Given the description of an element on the screen output the (x, y) to click on. 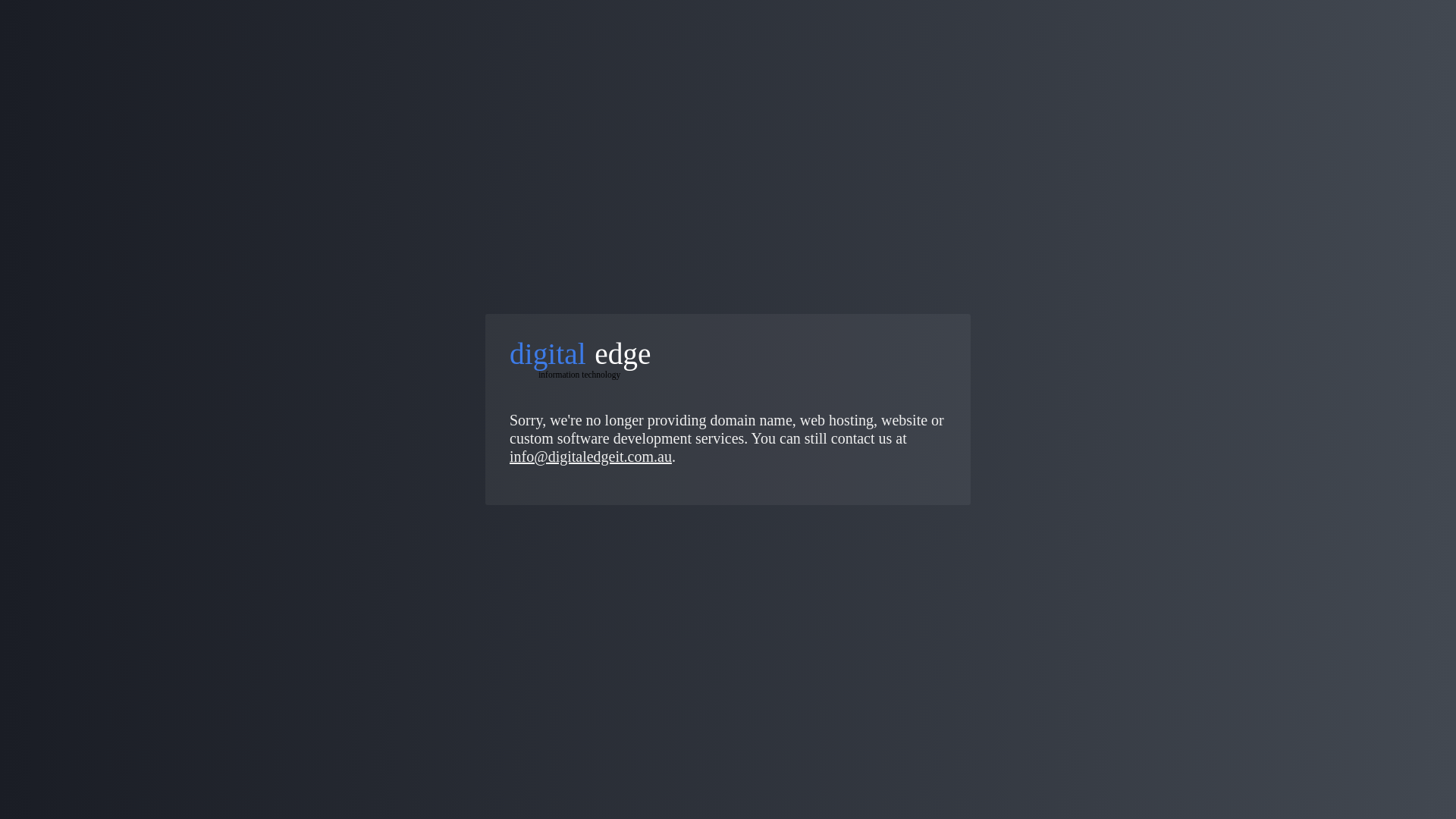
info@digitaledgeit.com.au Element type: text (590, 456)
